Given the description of an element on the screen output the (x, y) to click on. 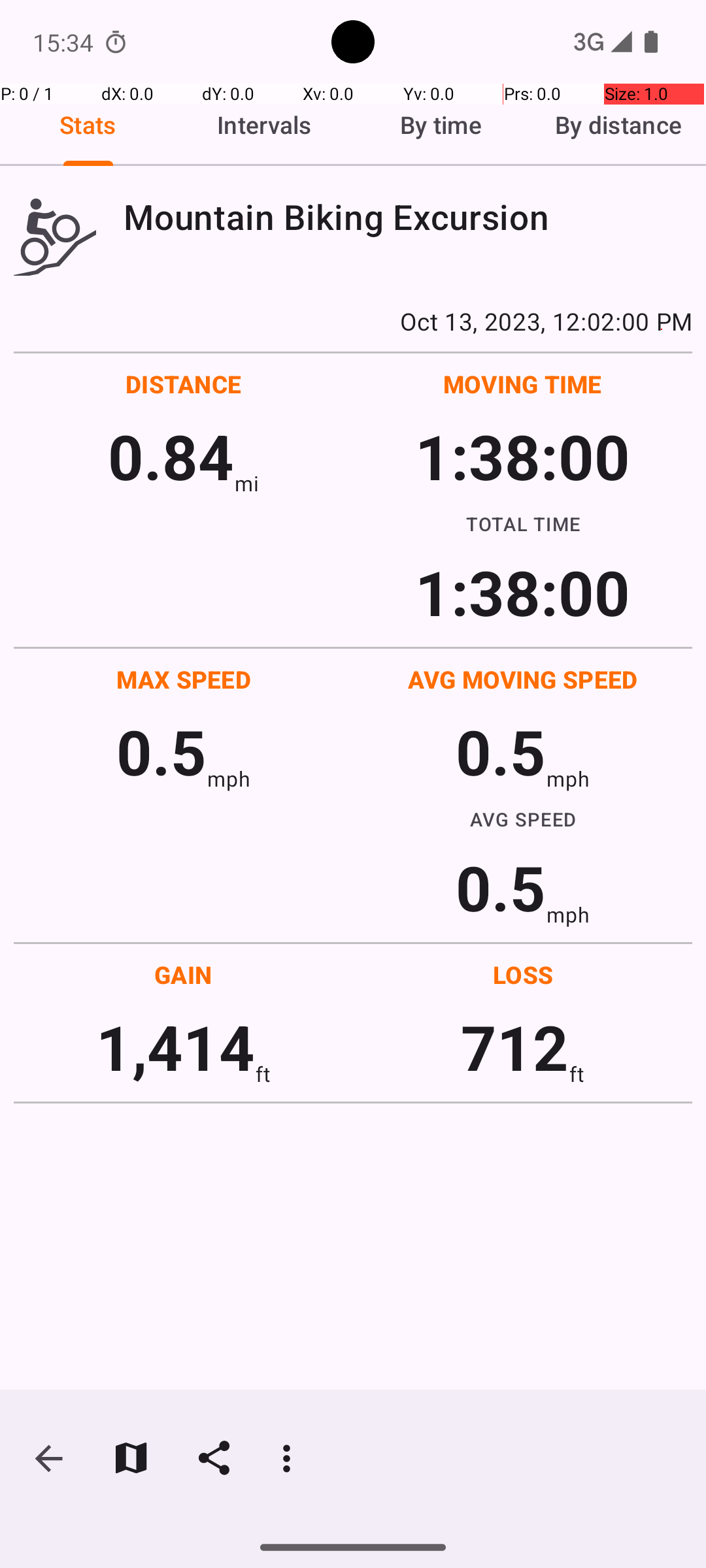
Mountain Biking Excursion Element type: android.widget.TextView (407, 216)
Oct 13, 2023, 12:02:00 PM Element type: android.widget.TextView (352, 320)
0.84 Element type: android.widget.TextView (170, 455)
1:38:00 Element type: android.widget.TextView (522, 455)
0.5 Element type: android.widget.TextView (161, 750)
1,414 Element type: android.widget.TextView (175, 1045)
712 Element type: android.widget.TextView (514, 1045)
